Given the description of an element on the screen output the (x, y) to click on. 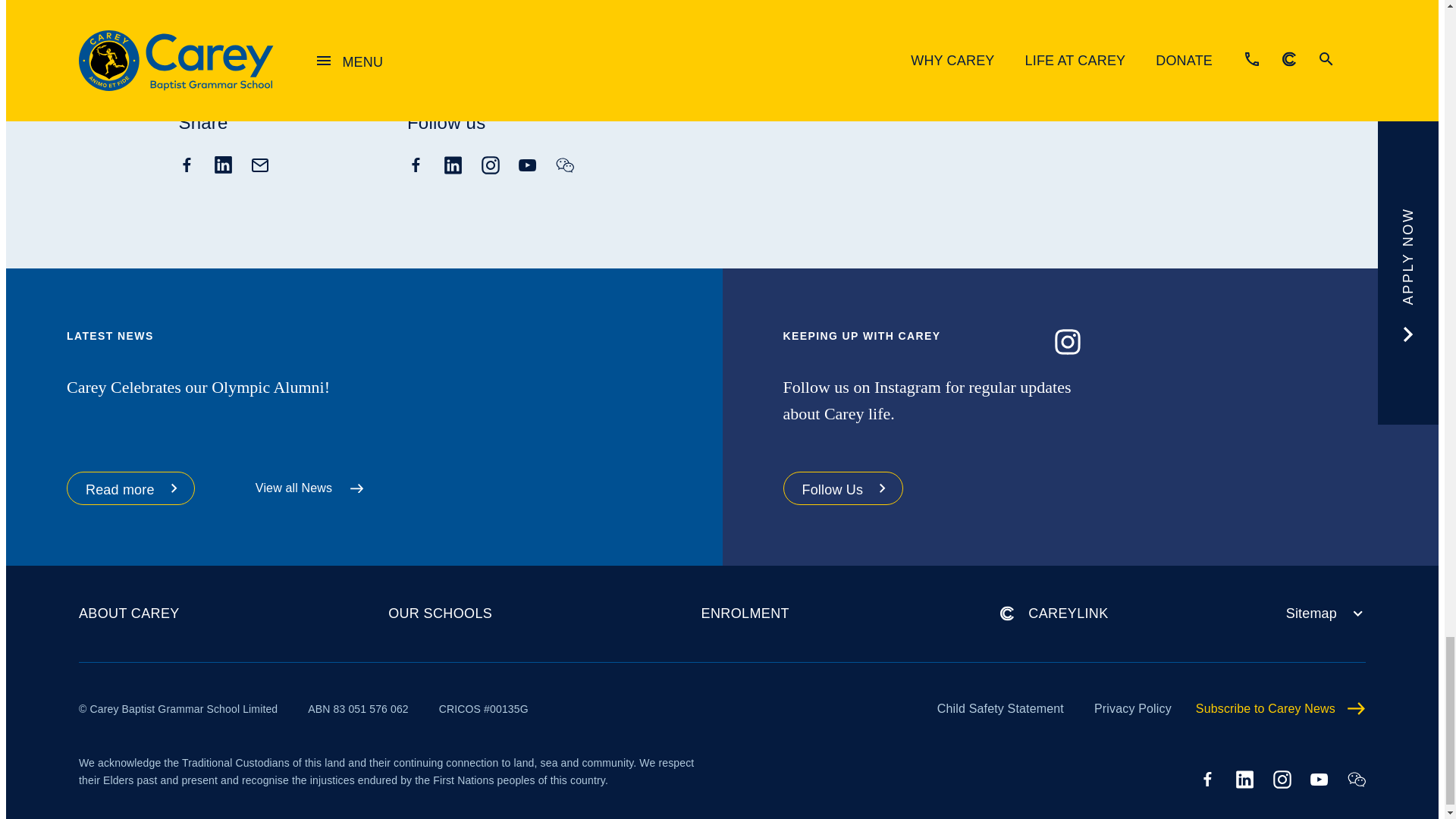
View all News (296, 487)
Follow Us (842, 488)
Read more (130, 488)
